Given the description of an element on the screen output the (x, y) to click on. 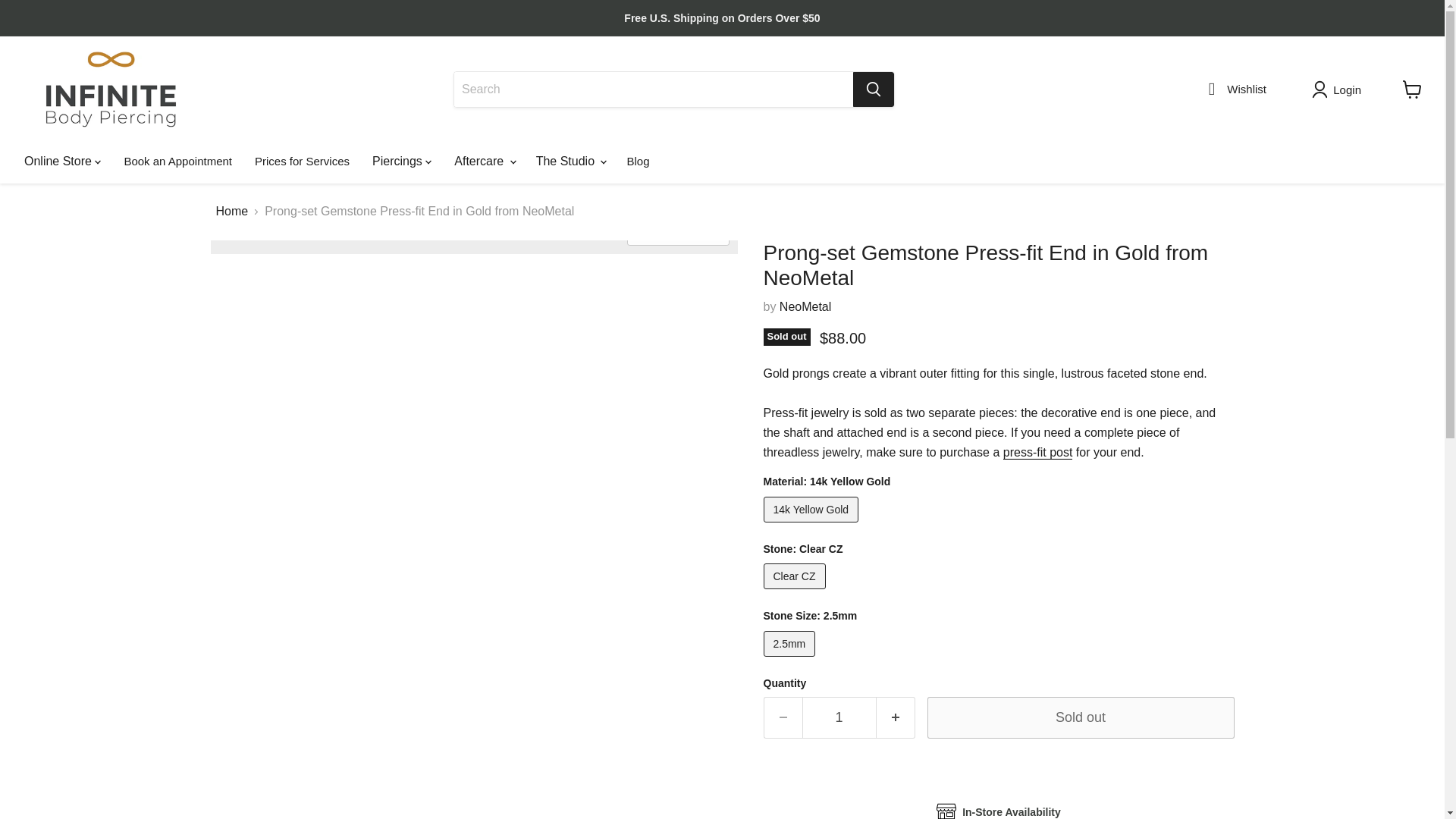
Press-fit Posts (1038, 452)
1 (839, 717)
Wishlist (1232, 91)
Login (1339, 89)
NeoMetal (804, 306)
View cart (1411, 89)
